Given the description of an element on the screen output the (x, y) to click on. 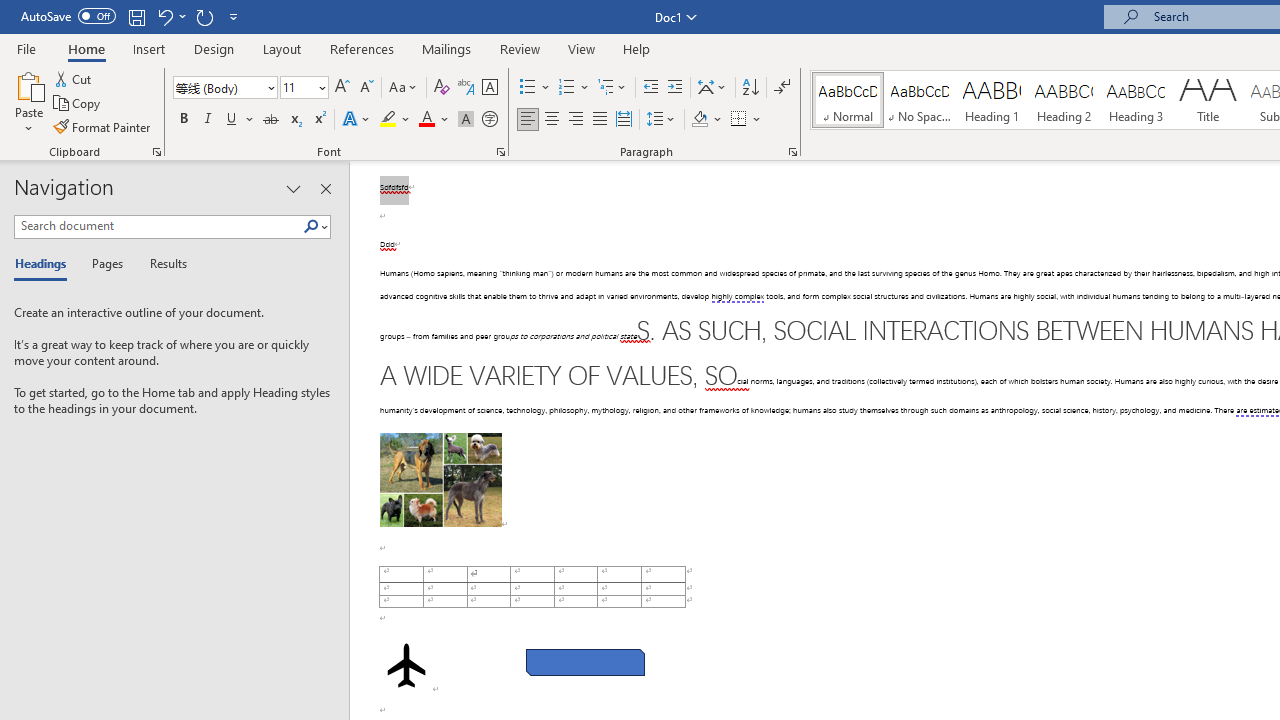
Asian Layout (712, 87)
Insert (149, 48)
Review (520, 48)
